Given the description of an element on the screen output the (x, y) to click on. 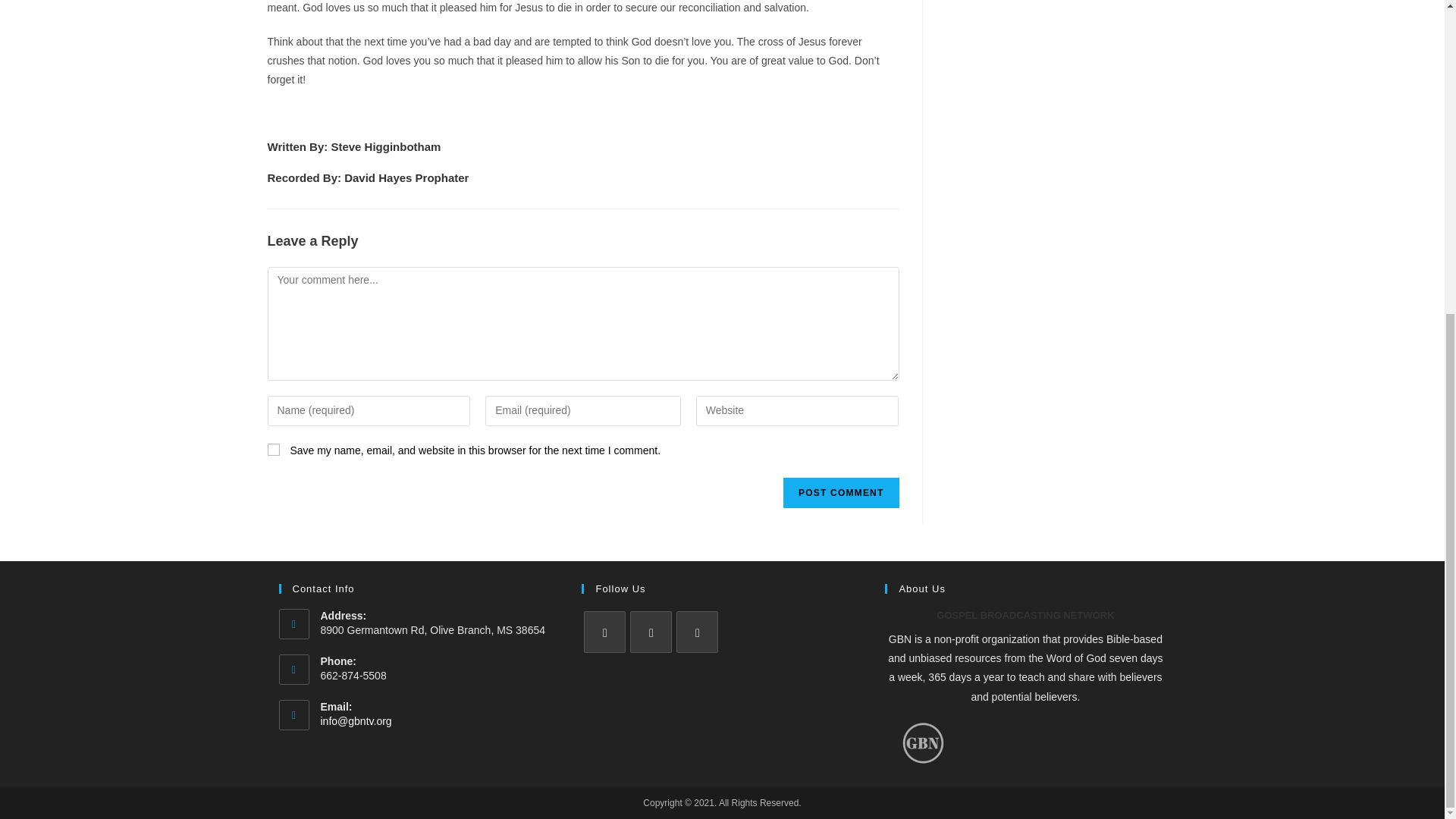
yes (272, 449)
Post Comment (840, 492)
